Given the description of an element on the screen output the (x, y) to click on. 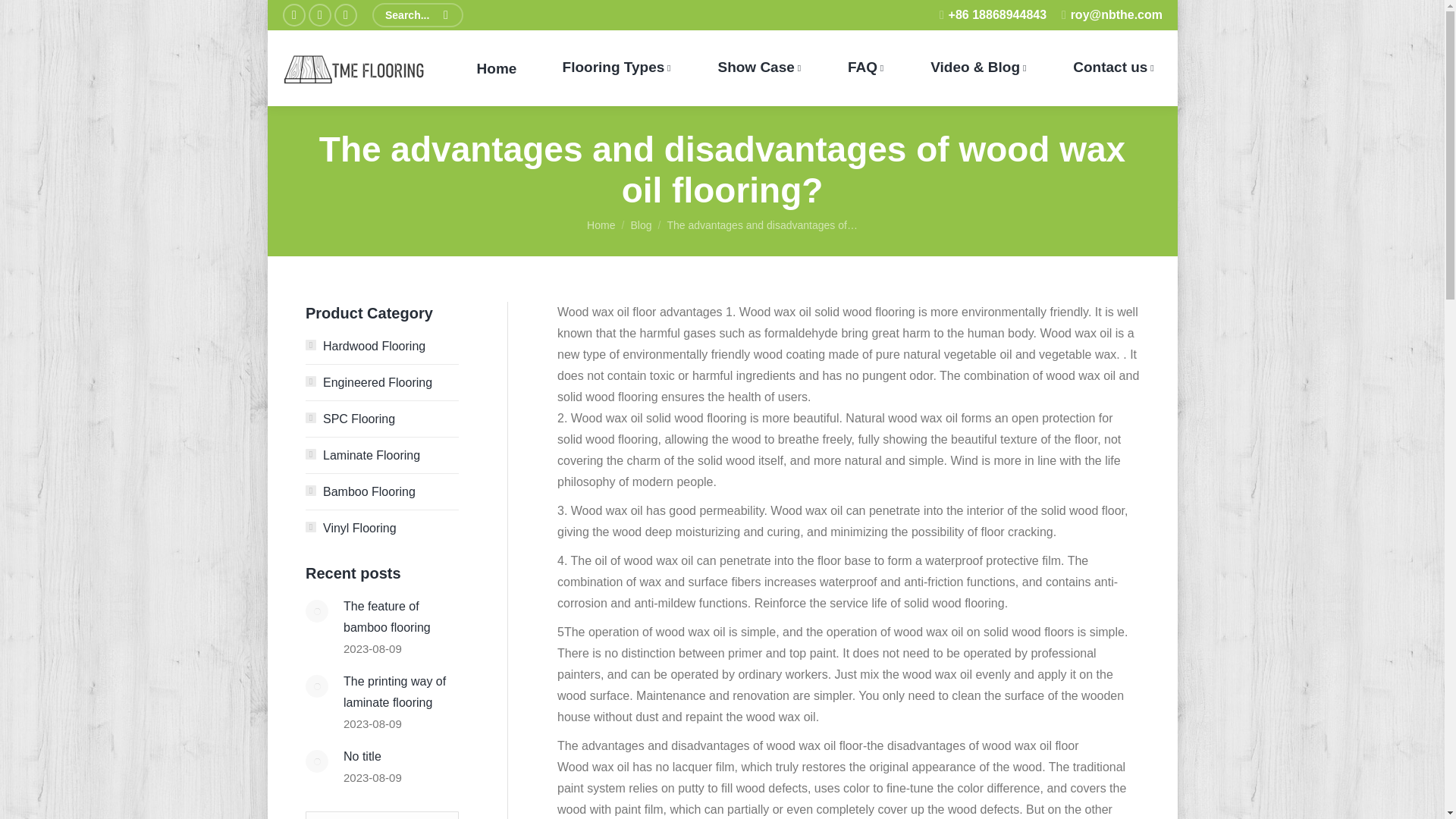
Go! (428, 815)
Dribbble (344, 15)
Facebook (293, 15)
Contact us (1112, 68)
Dribbble (344, 15)
Show Case (759, 68)
FAQ (866, 68)
Go! (30, 15)
Facebook (293, 15)
Home (495, 68)
Twitter (318, 15)
Flooring Types (616, 68)
Go! (428, 815)
Twitter (318, 15)
